Given the description of an element on the screen output the (x, y) to click on. 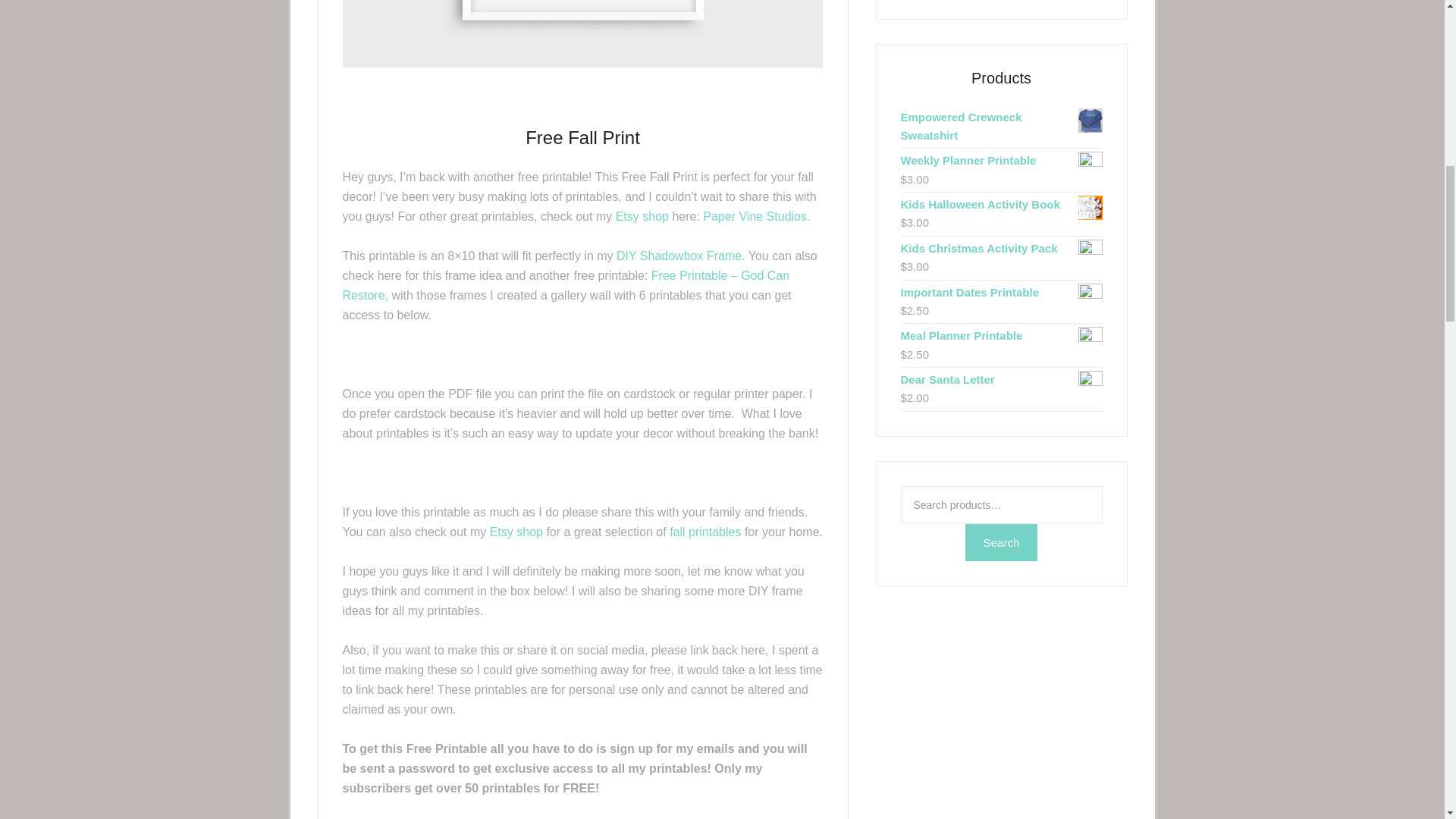
Paper Vine Studios. (756, 215)
Kids Halloween Activity Book (1001, 204)
Free-Fall-Printable-Frugally-Fantastic.com (583, 33)
Etsy shop (641, 215)
Empowered Crewneck Sweatshirt (1001, 125)
Etsy shop (516, 531)
fall printables (705, 531)
DIY Shadowbox Frame. (681, 255)
Weekly Planner Printable (1001, 160)
